Given the description of an element on the screen output the (x, y) to click on. 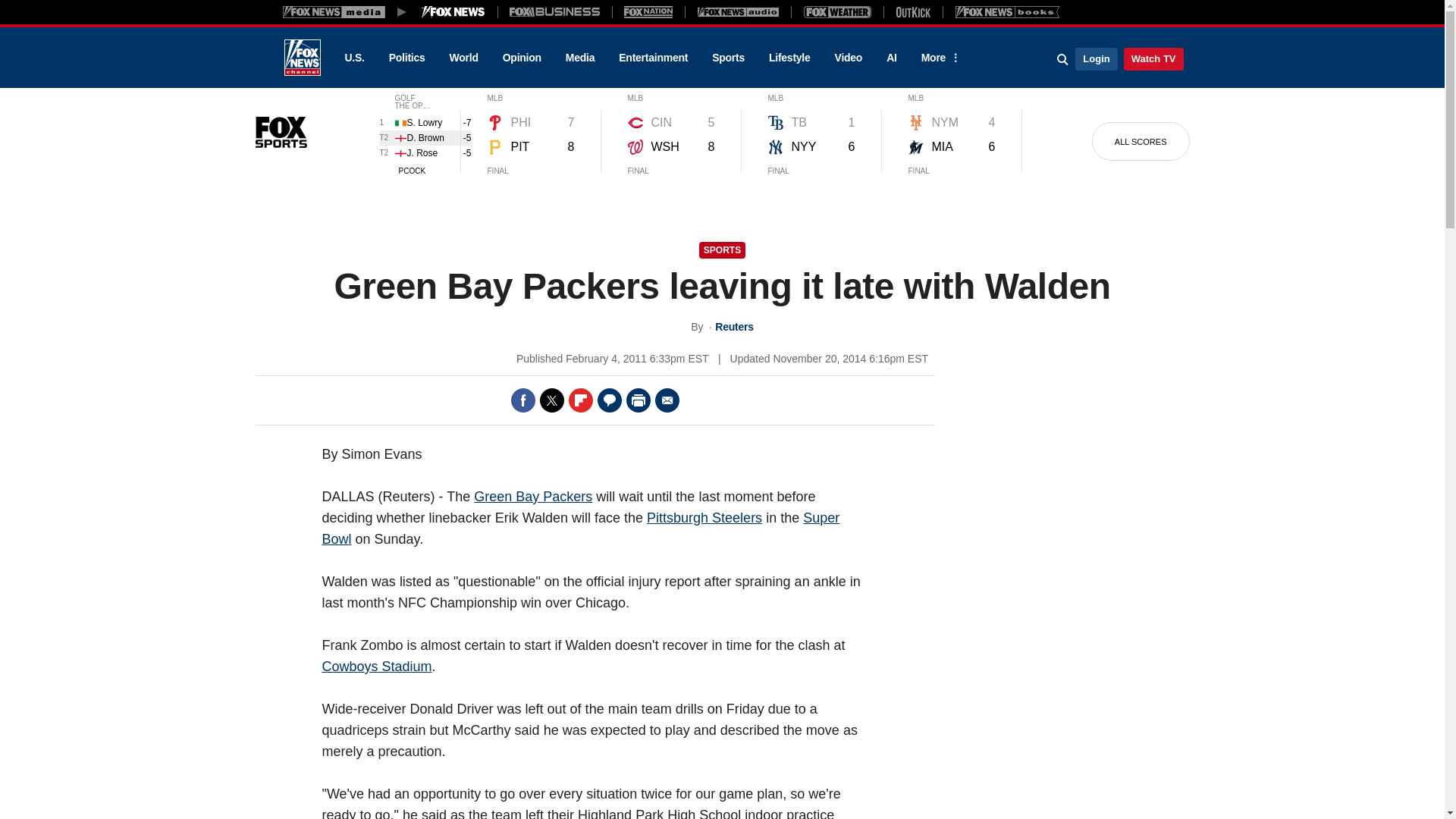
Watch TV (1153, 58)
Fox News (301, 57)
Lifestyle (789, 57)
Books (1007, 11)
Fox Nation (648, 11)
Media (580, 57)
Sports (728, 57)
Video (848, 57)
Opinion (521, 57)
Politics (407, 57)
Login (1095, 58)
Outkick (912, 11)
Fox Business (554, 11)
World (464, 57)
AI (891, 57)
